Given the description of an element on the screen output the (x, y) to click on. 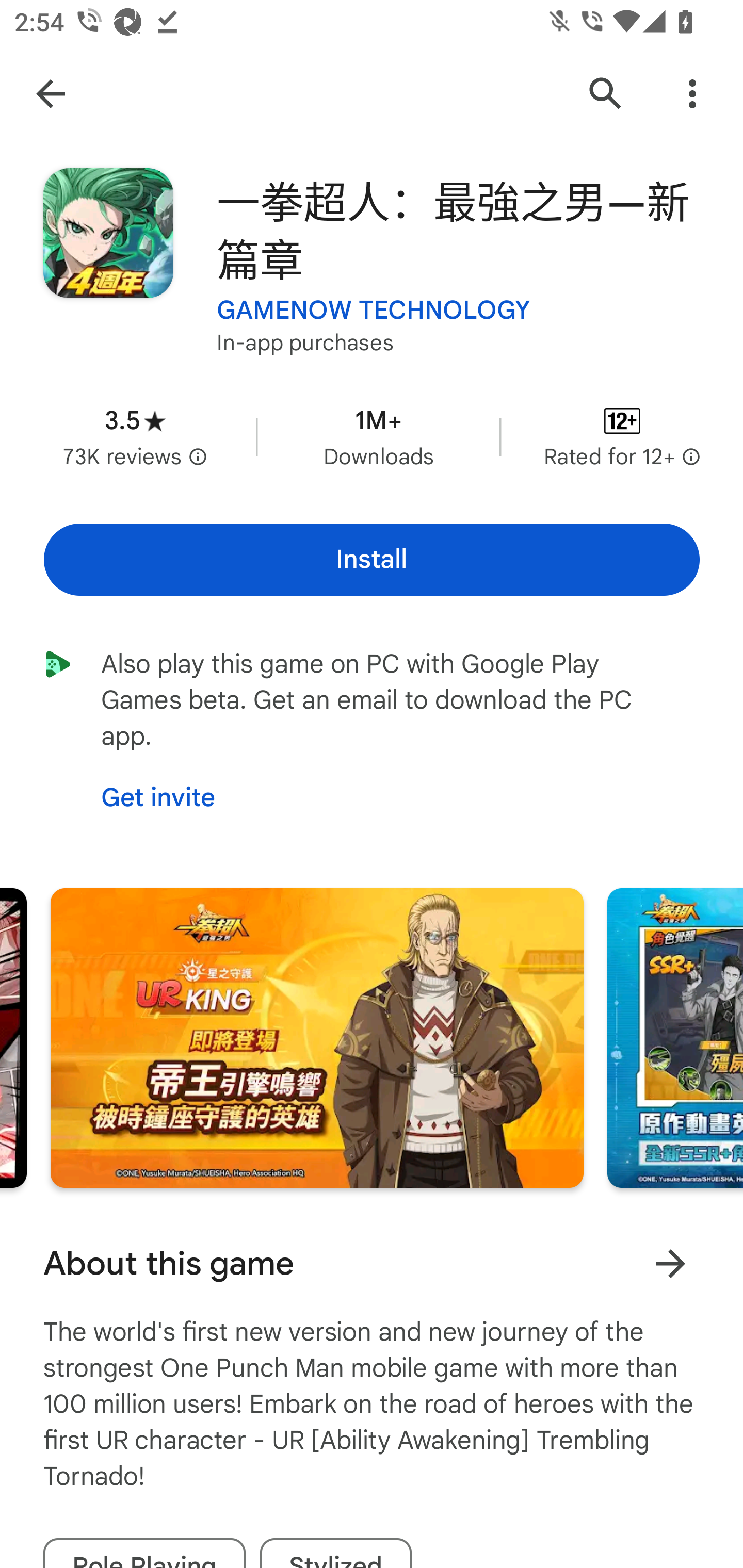
Navigate up (50, 93)
Search Google Play (605, 93)
More Options (692, 93)
GAMENOW TECHNOLOGY (373, 310)
Average rating 3.5 stars in 73 thousand reviews (135, 436)
Content rating Rated for 12+ (622, 436)
Install (371, 559)
Get invite (158, 798)
Screenshot "2" of "5" (316, 1037)
About this game Learn more About this game (371, 1263)
Learn more About this game (670, 1263)
